Given the description of an element on the screen output the (x, y) to click on. 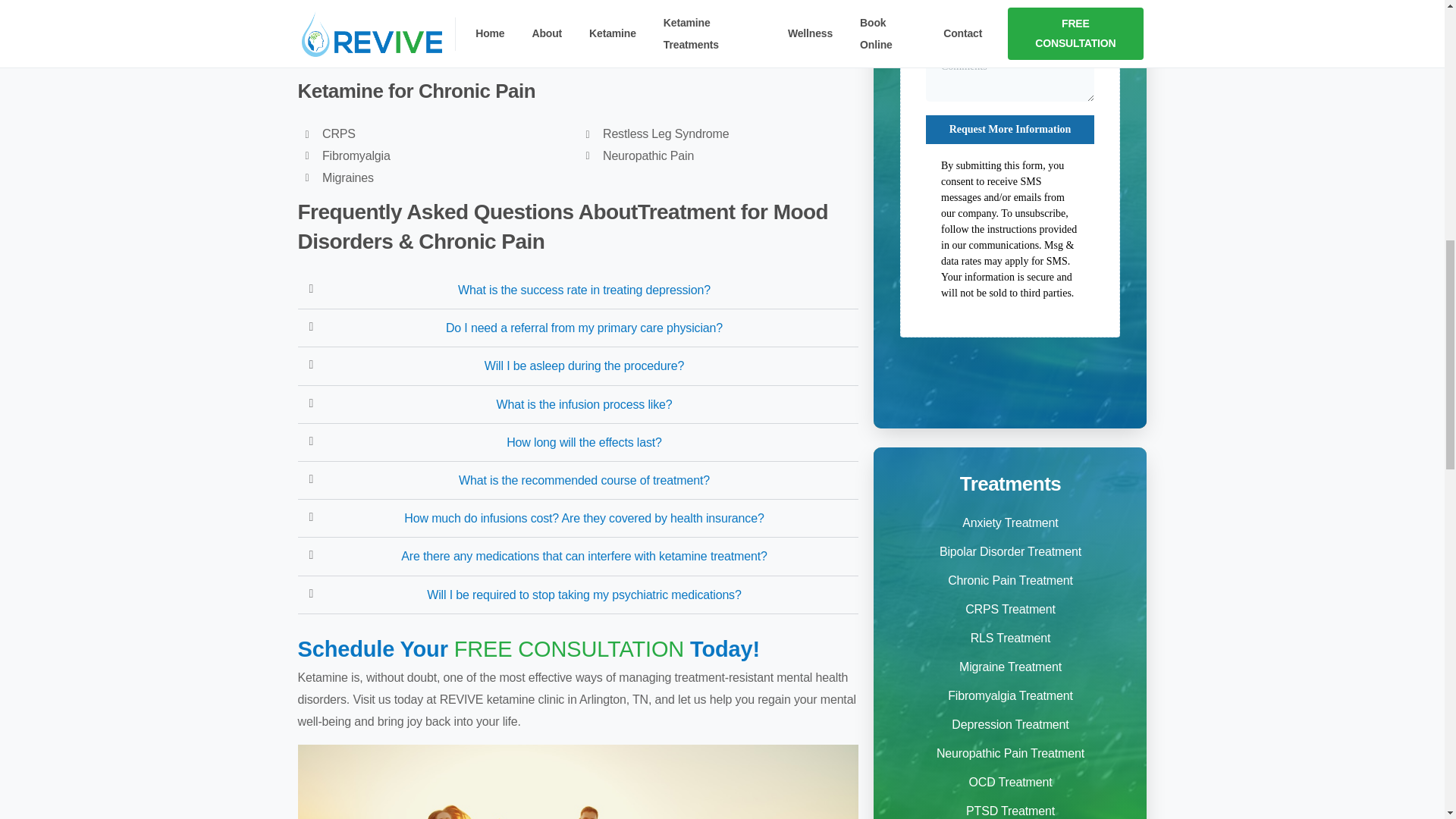
What is the infusion process like? (583, 404)
Will I be asleep during the procedure? (584, 365)
What is the success rate in treating depression? (584, 289)
How long will the effects last? (584, 441)
Do I need a referral from my primary care physician? (583, 327)
What is the recommended course of treatment? (584, 480)
